Given the description of an element on the screen output the (x, y) to click on. 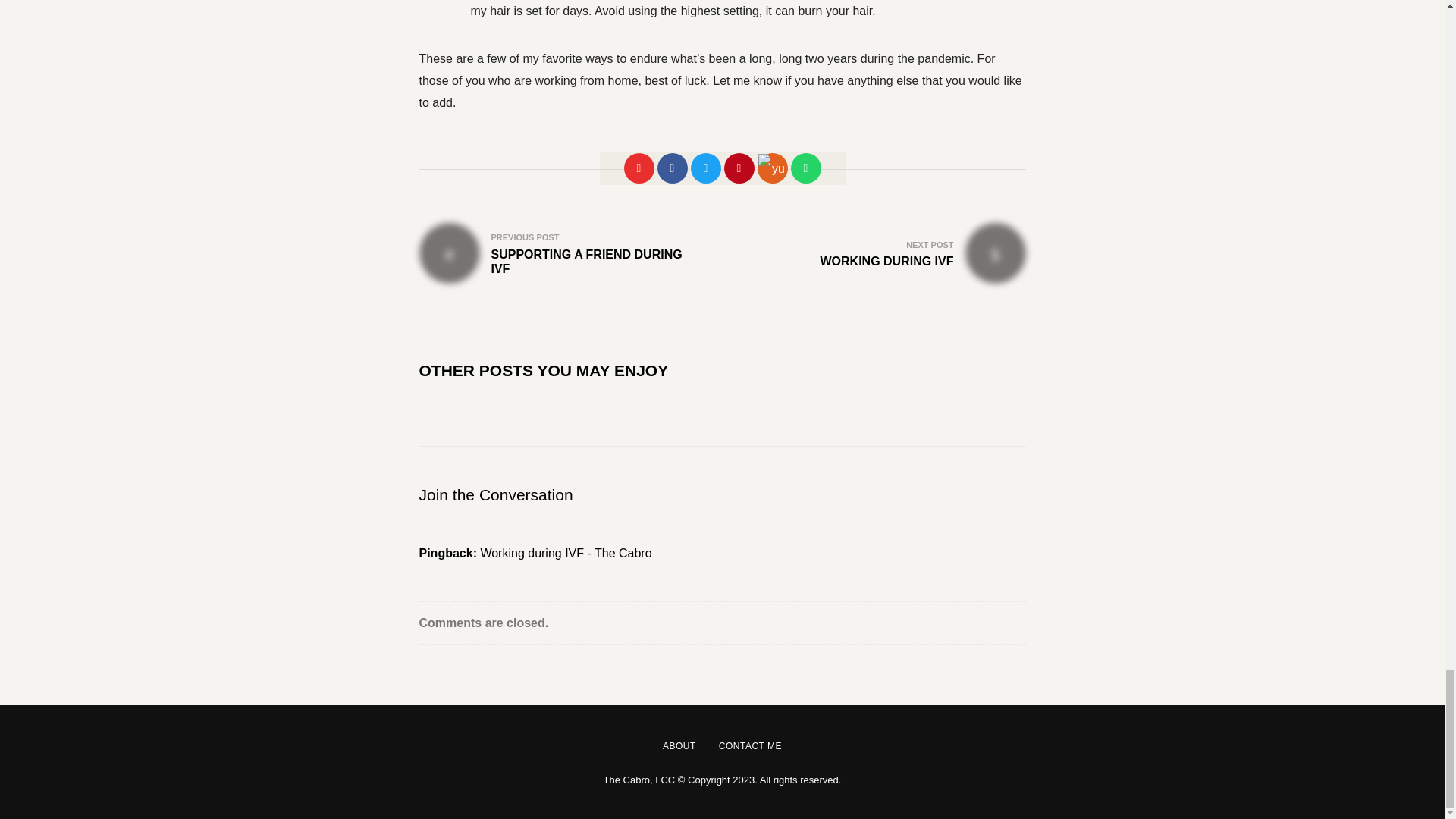
Facebook (671, 168)
Twitter (705, 168)
Pinterest (738, 168)
Yummly (772, 168)
Like (638, 168)
WhatsApp (805, 168)
